Given the description of an element on the screen output the (x, y) to click on. 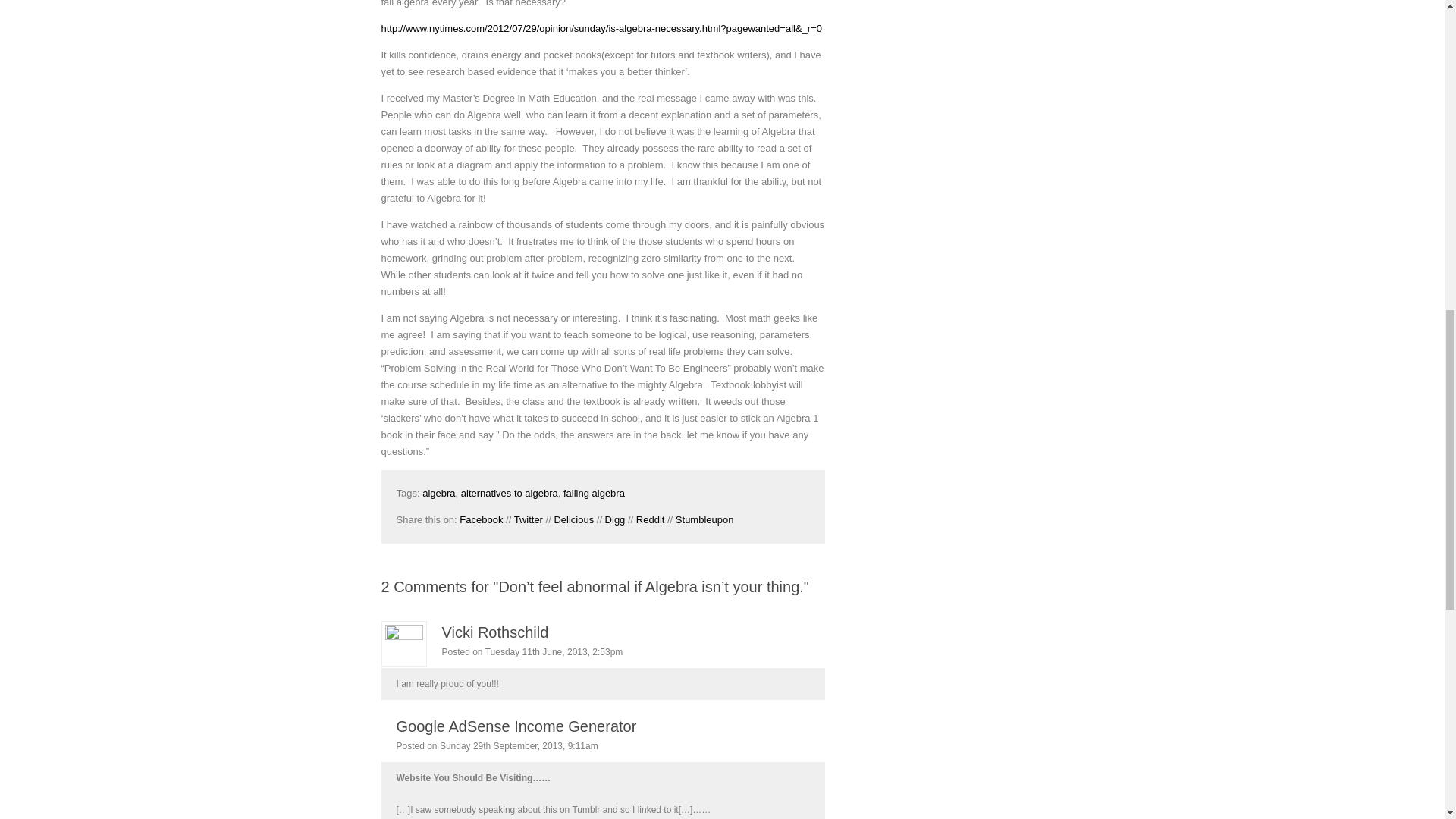
algebra (438, 492)
Facebook (481, 519)
Google AdSense Income Generator (516, 726)
Vicki Rothschild (494, 632)
Stumbleupon (704, 519)
Delicious (573, 519)
failing algebra (593, 492)
Tweet this! (528, 519)
Twitter (528, 519)
Reddit (650, 519)
alternatives to algebra (509, 492)
Digg (615, 519)
